Given the description of an element on the screen output the (x, y) to click on. 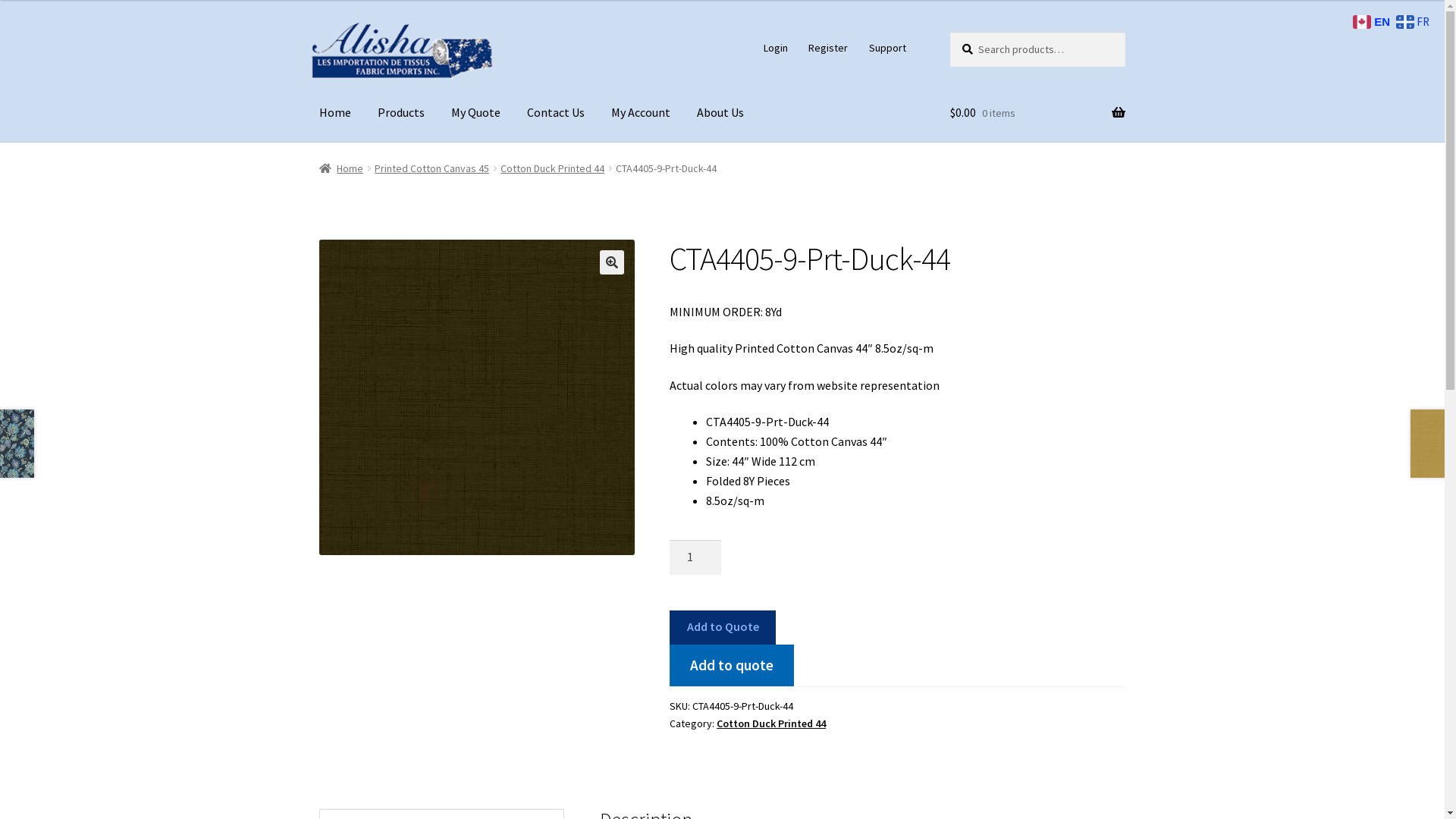
Support Element type: text (887, 47)
Add to Quote Element type: text (722, 627)
$0.00 0 items Element type: text (1037, 112)
Login Element type: text (775, 47)
Search Element type: text (949, 31)
Home Element type: text (341, 168)
EN Element type: text (1372, 20)
FR Element type: text (1414, 20)
Home Element type: text (335, 112)
CTA4405-9-Prt-Duck-44 Element type: hover (476, 397)
My Quote Element type: text (475, 112)
Products Element type: text (400, 112)
Register Element type: text (828, 47)
My Account Element type: text (640, 112)
Cotton Duck Printed 44 Element type: text (770, 723)
Cotton Duck Printed 44 Element type: text (552, 168)
About Us Element type: text (720, 112)
Add to quote Element type: text (731, 665)
Contact Us Element type: text (555, 112)
Printed Cotton Canvas 45 Element type: text (431, 168)
